Given the description of an element on the screen output the (x, y) to click on. 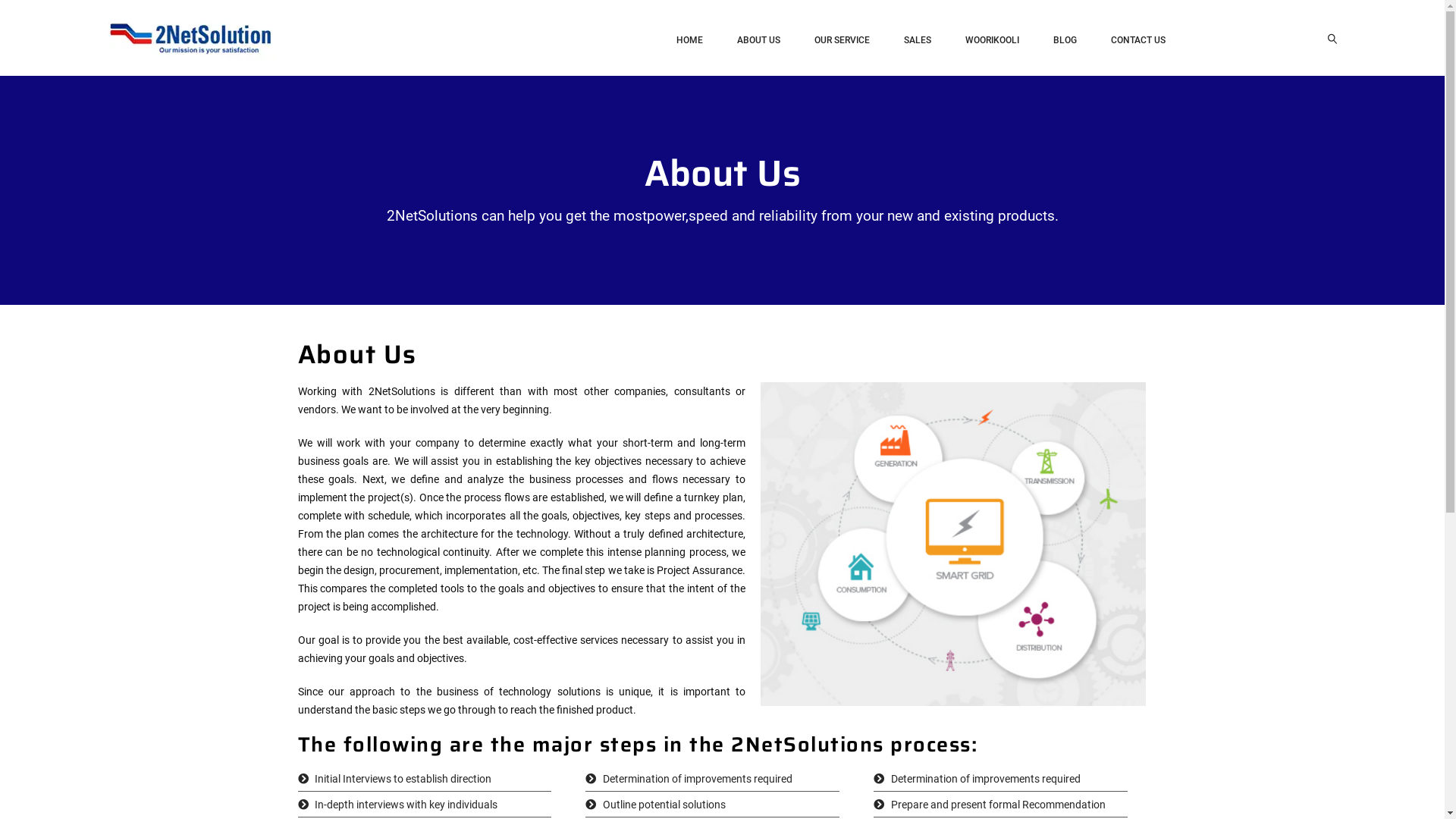
ABOUT US Element type: text (758, 39)
CONTACT US Element type: text (1137, 39)
SALES Element type: text (917, 39)
HOME Element type: text (689, 39)
BLOG Element type: text (1064, 39)
OUR SERVICE Element type: text (841, 39)
WOORIKOOLI Element type: text (991, 39)
